Given the description of an element on the screen output the (x, y) to click on. 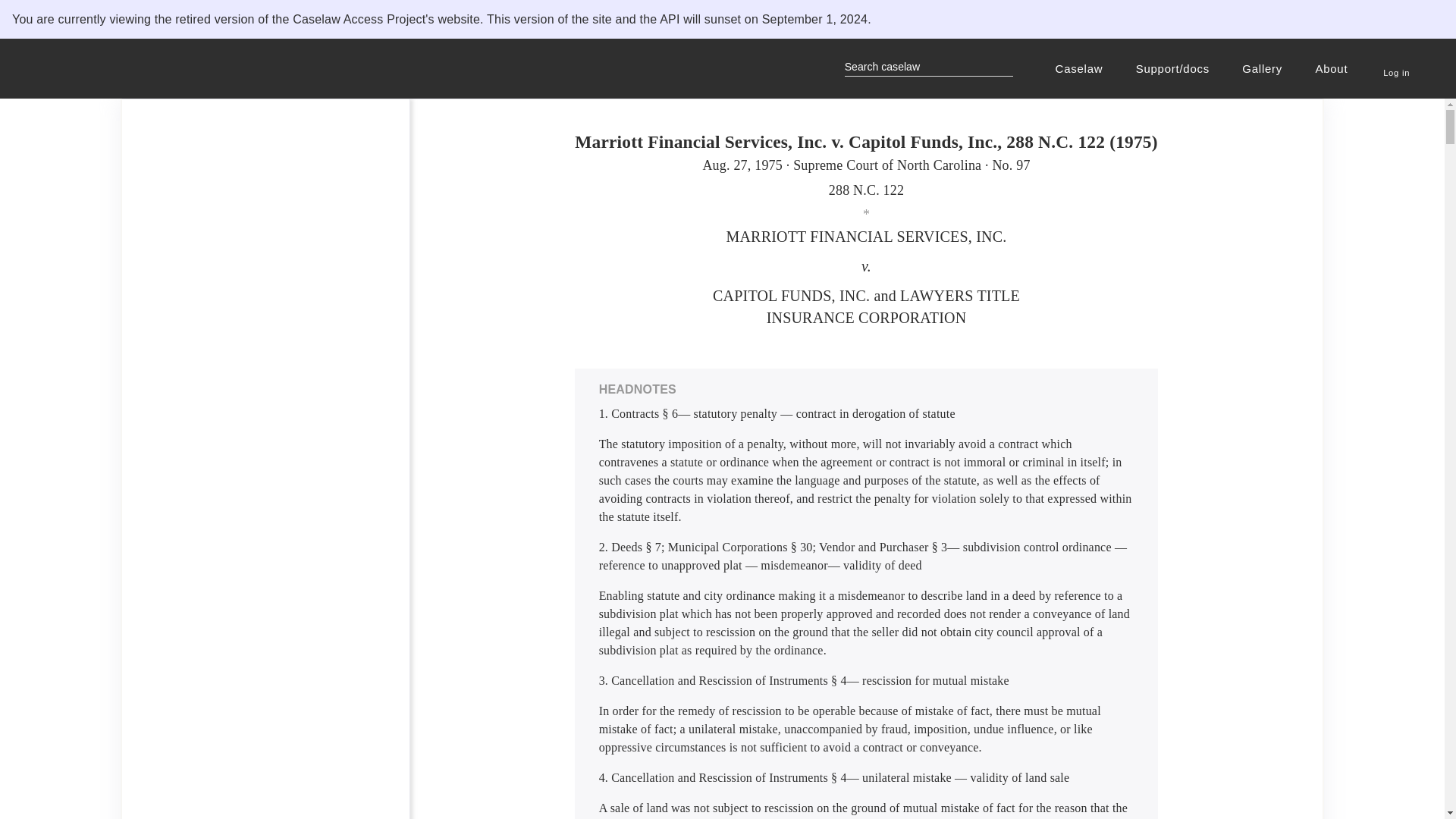
Log in (1396, 64)
Caselaw (1081, 68)
Gallery (1264, 68)
About (1332, 68)
